Given the description of an element on the screen output the (x, y) to click on. 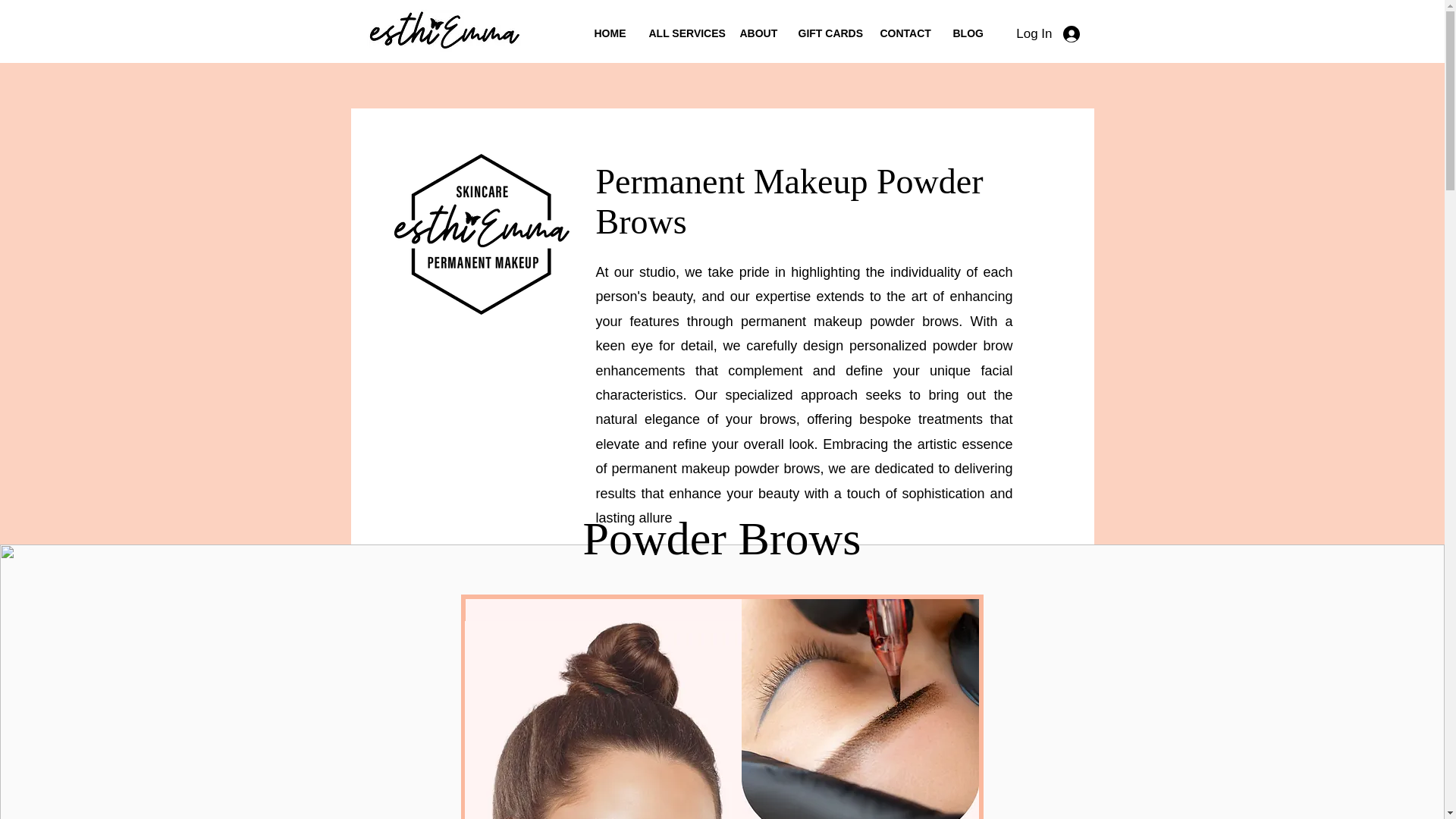
Log In (1052, 33)
esthiemma-microblading-logo.jpg (443, 30)
GIFT CARDS (828, 33)
BLOG (967, 33)
HOME (609, 33)
ABOUT (757, 33)
CONTACT (905, 33)
